Given the description of an element on the screen output the (x, y) to click on. 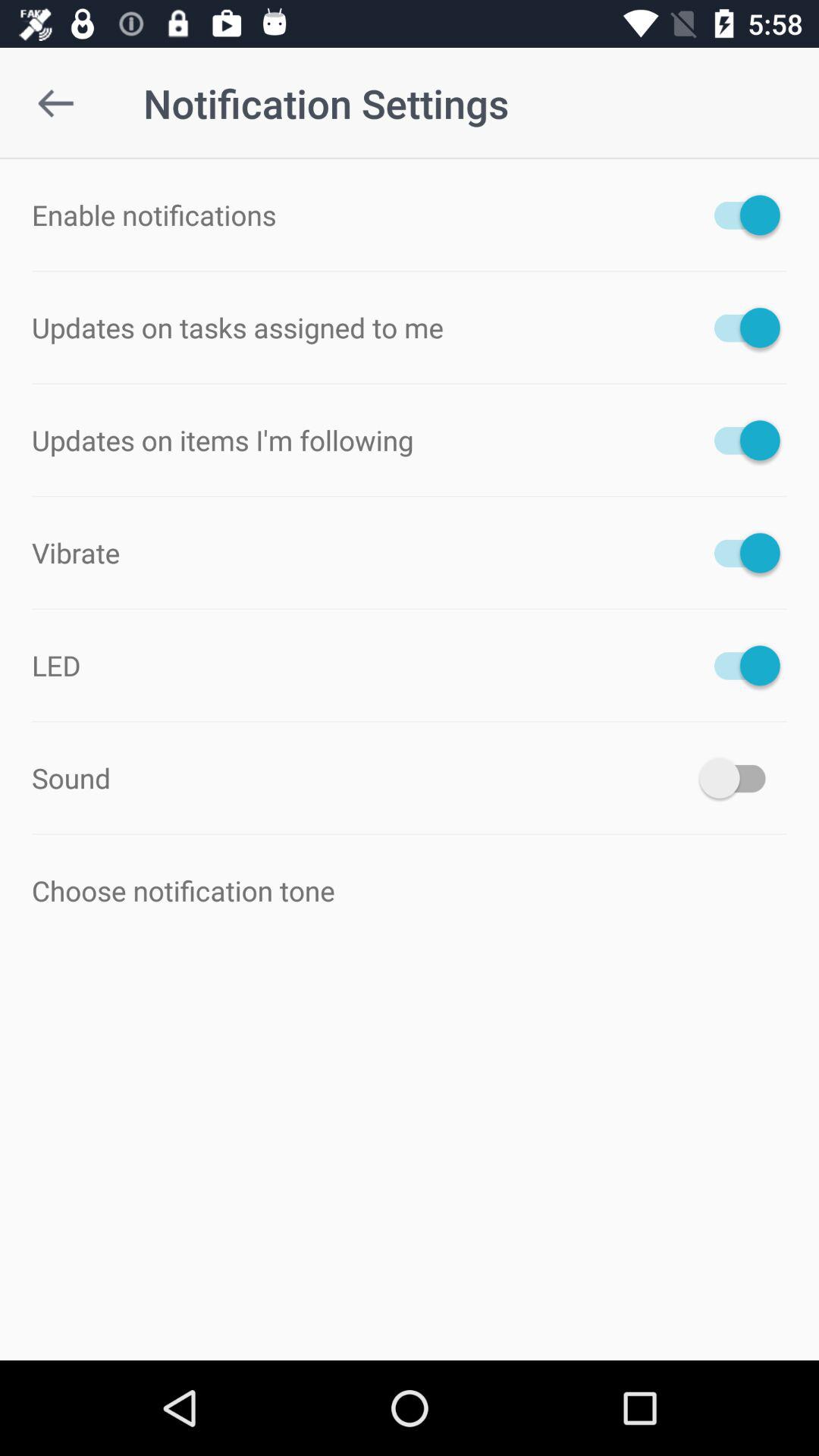
on (739, 777)
